Given the description of an element on the screen output the (x, y) to click on. 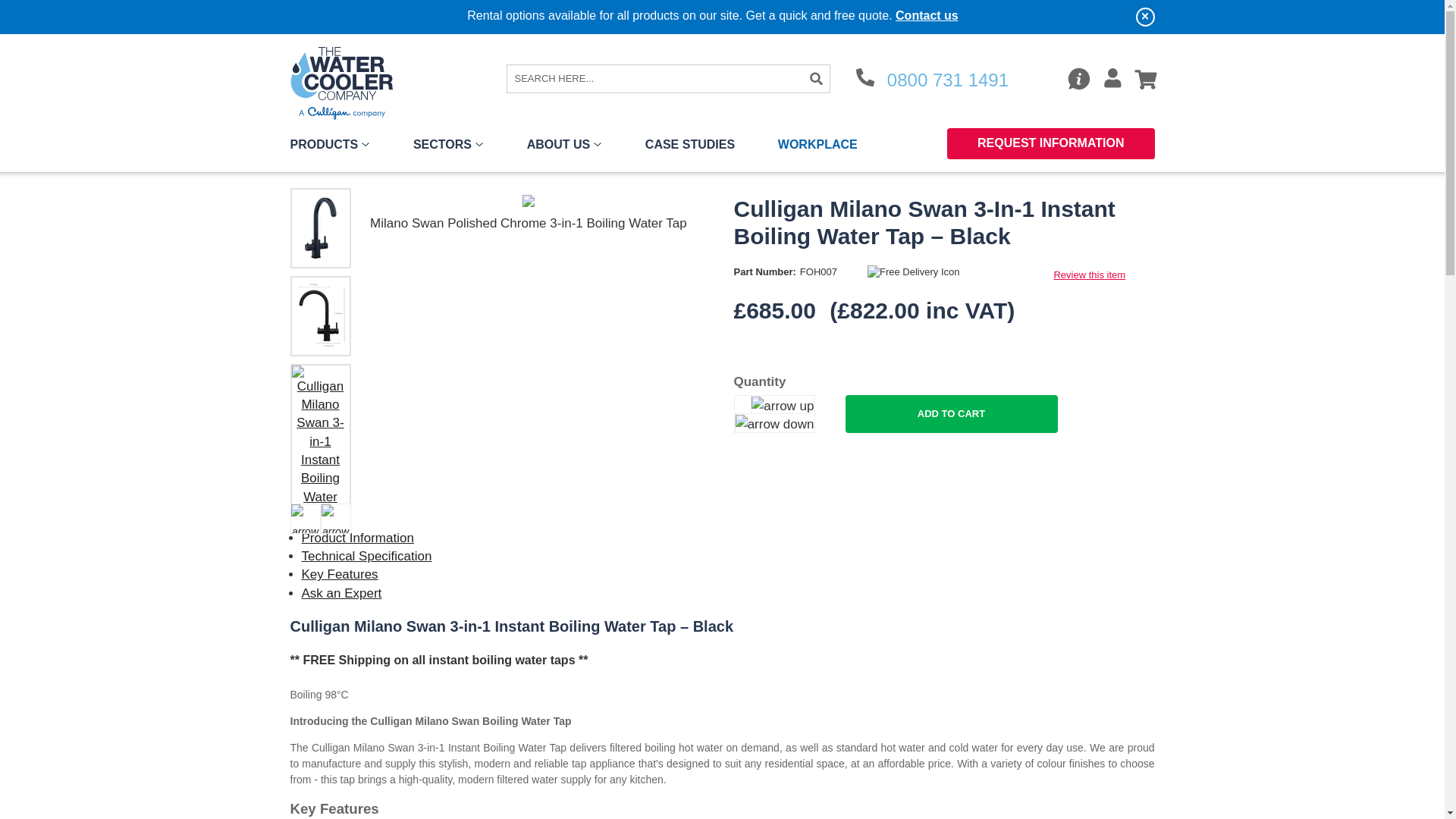
ABOUT US (564, 147)
WORKPLACE (817, 147)
1 (765, 413)
Next Image (335, 518)
home (347, 81)
0800 731 1491 (932, 80)
PRODUCTS (329, 147)
CASE STUDIES (690, 147)
Contact us (926, 15)
Previous Image (304, 518)
REQUEST INFORMATION (1050, 143)
The Water Cooler Company (347, 81)
SECTORS (448, 147)
Milano Swan Polished Chrome 3-in-1 Boiling Water Tap  (528, 223)
